Given the description of an element on the screen output the (x, y) to click on. 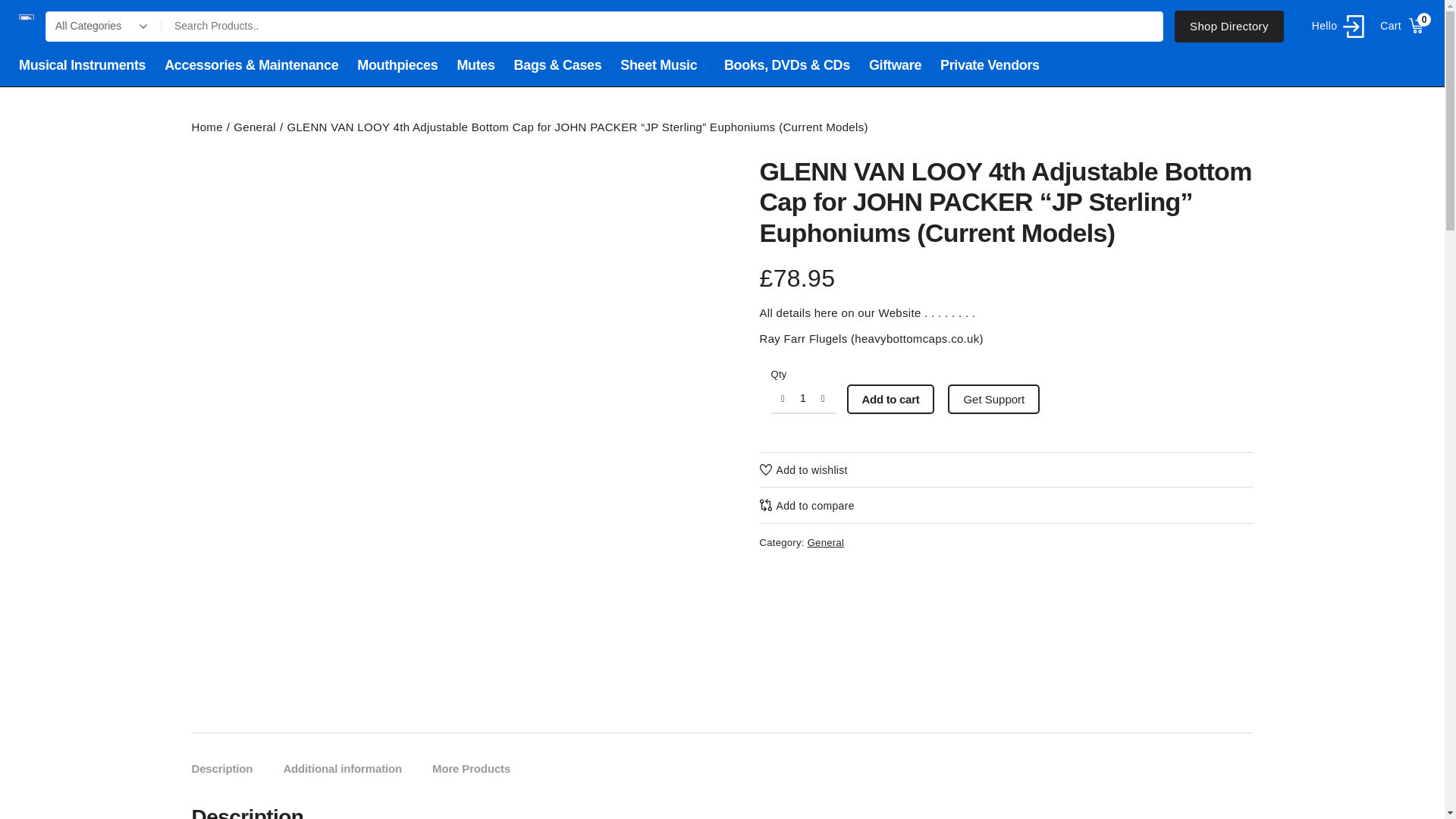
Mutes (476, 65)
Private Vendors (989, 65)
Sheet Music (662, 65)
1 (802, 398)
Mouthpieces (397, 65)
Hello (1402, 25)
Musical Instruments (1335, 26)
Shop Directory (81, 65)
Giftware (1229, 26)
